Given the description of an element on the screen output the (x, y) to click on. 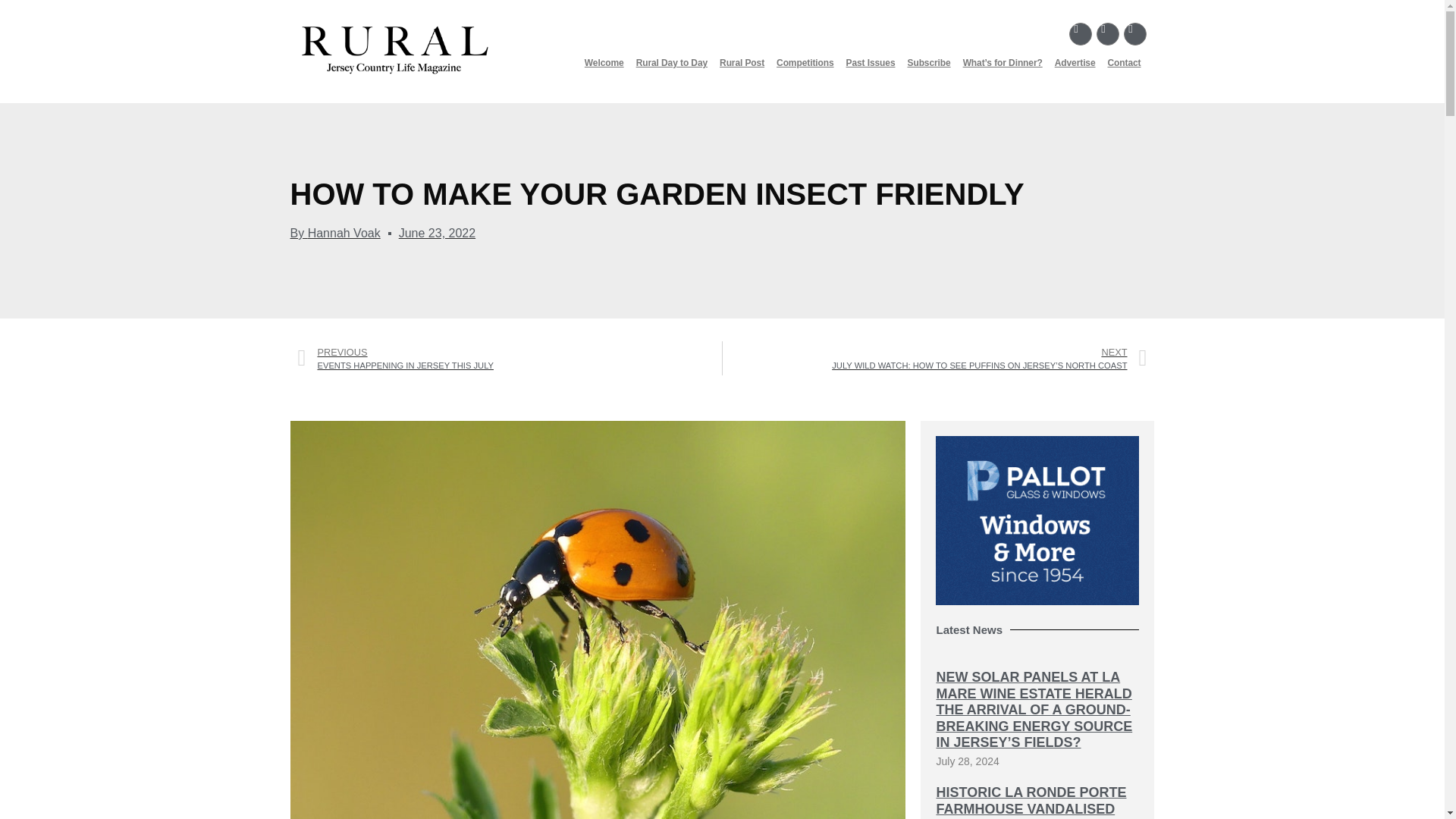
Welcome (604, 62)
June 23, 2022 (437, 233)
Competitions (805, 62)
Past Issues (870, 62)
By Hannah Voak (334, 233)
Rural Day to Day (671, 62)
Rural Post (741, 62)
HISTORIC LA RONDE PORTE FARMHOUSE VANDALISED (1030, 800)
Advertise (1075, 62)
Subscribe (928, 62)
Contact (1124, 62)
